Given the description of an element on the screen output the (x, y) to click on. 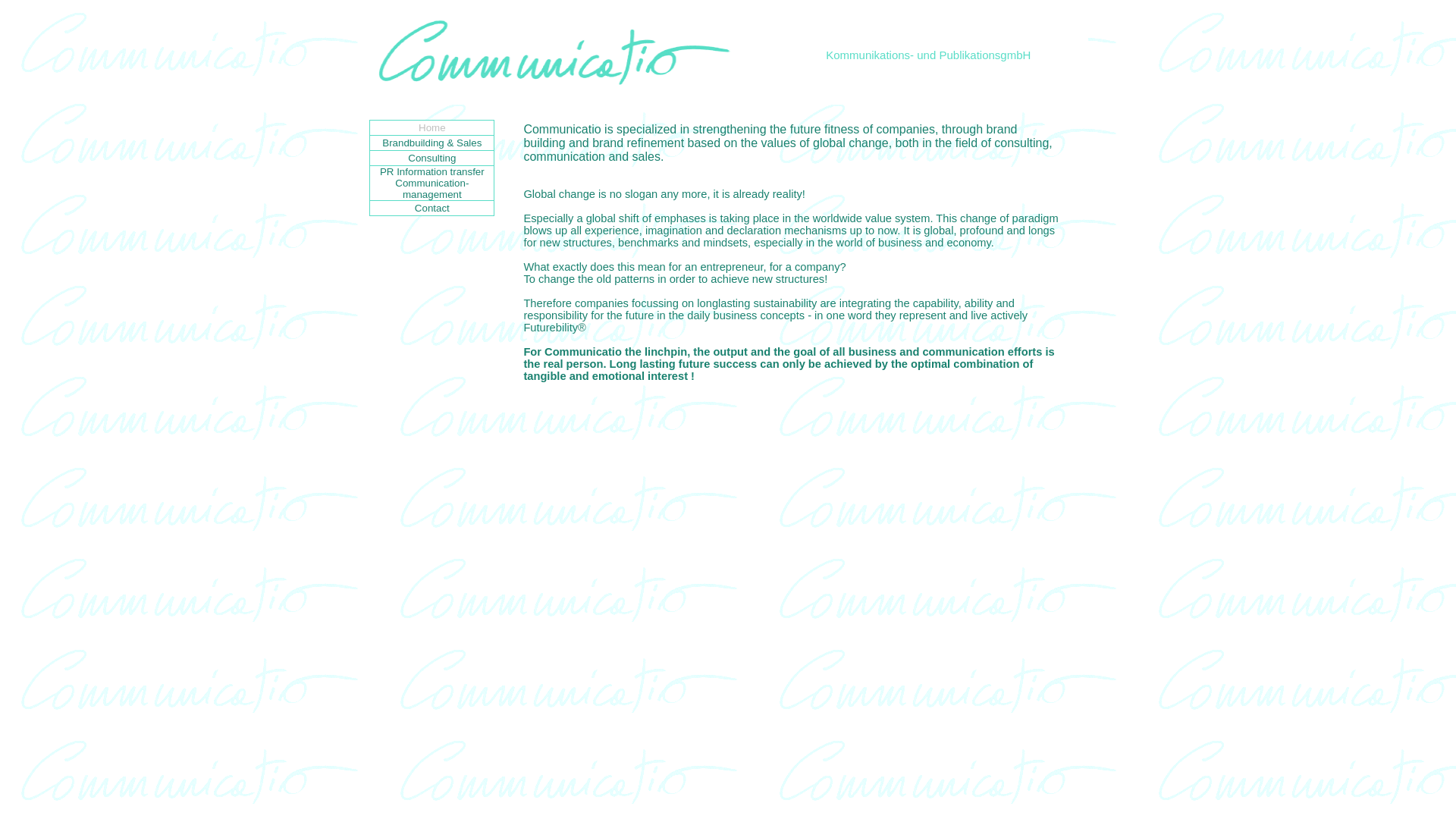
Home Element type: text (431, 127)
Brandbuilding & Sales Element type: text (431, 142)
Consulting Element type: text (431, 157)
PR Information transfer Communication-management Element type: text (431, 183)
Contact Element type: text (431, 207)
